Given the description of an element on the screen output the (x, y) to click on. 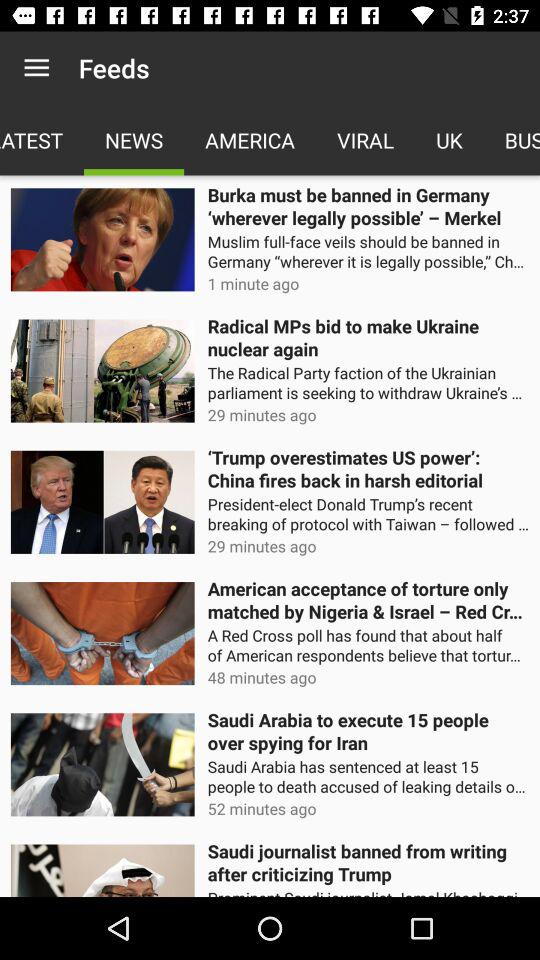
tap the app next to the business (449, 140)
